Given the description of an element on the screen output the (x, y) to click on. 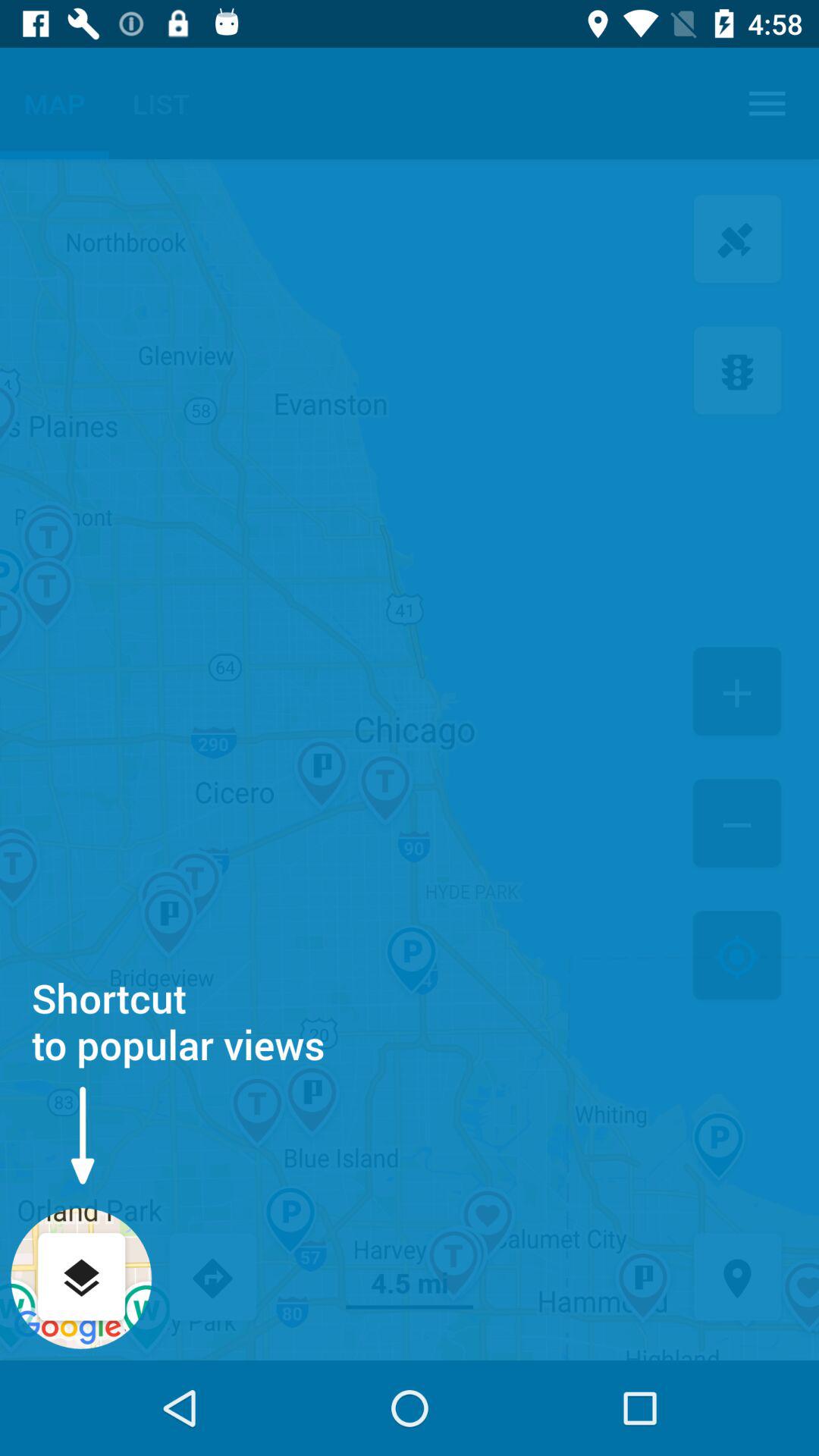
zoom in on map (737, 693)
